Given the description of an element on the screen output the (x, y) to click on. 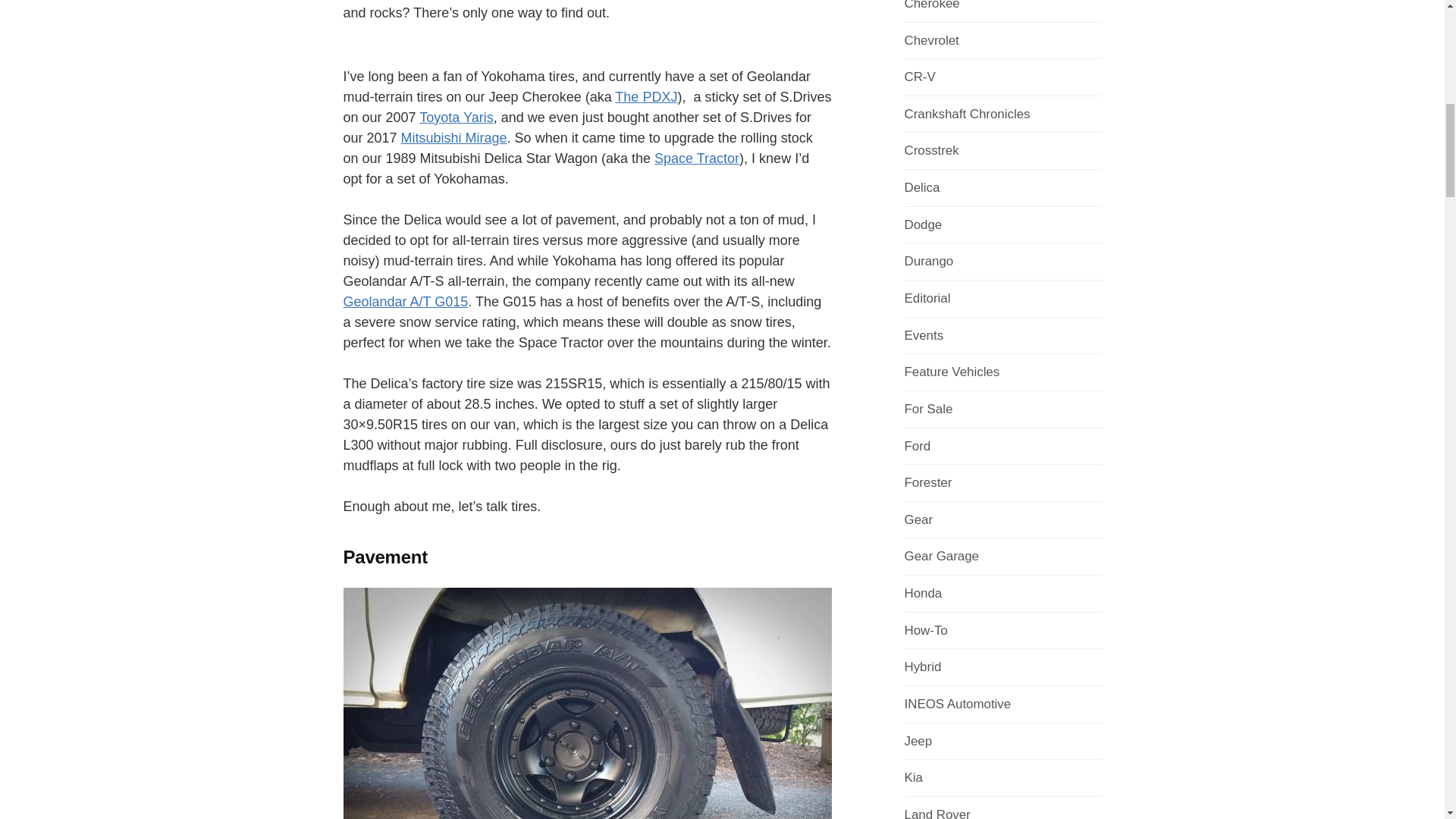
The PDXJ (645, 96)
Mitsubishi Mirage (453, 137)
Space Tractor (696, 158)
Toyota Yaris (456, 117)
